Given the description of an element on the screen output the (x, y) to click on. 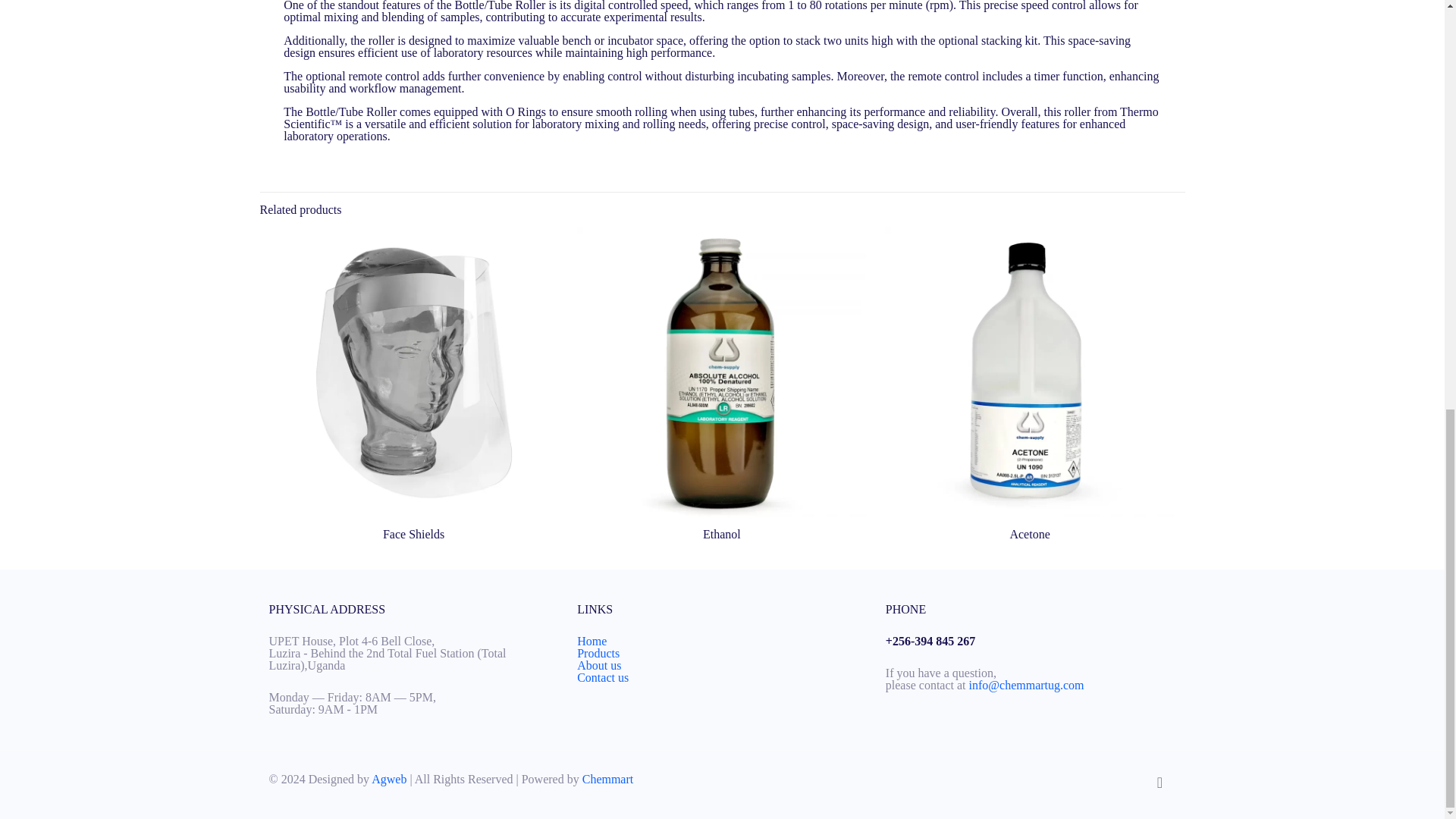
Facebook (1074, 779)
LinkedIn (1106, 779)
Instagram (1123, 779)
WhatsApp (1059, 779)
